Given the description of an element on the screen output the (x, y) to click on. 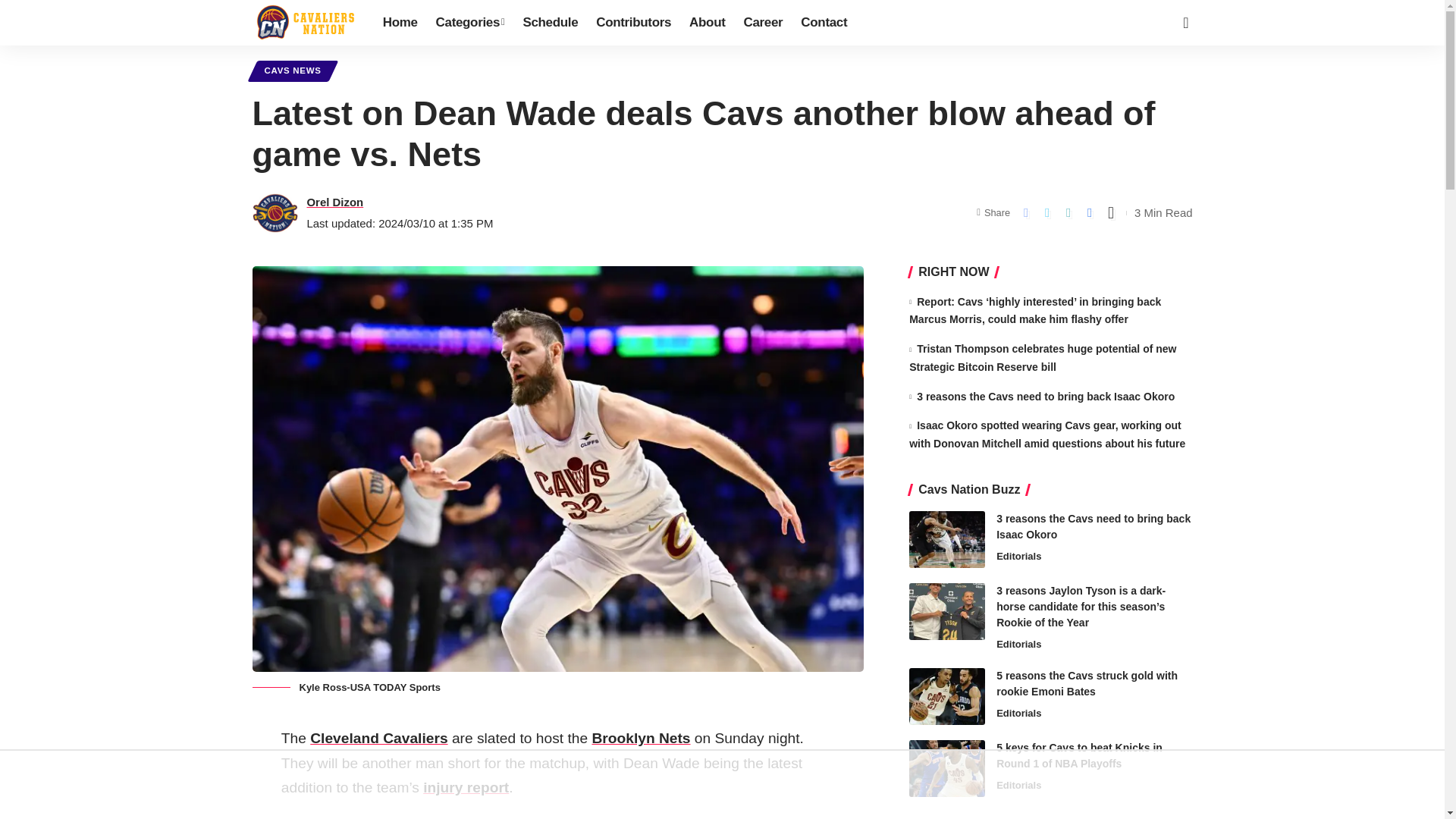
Brooklyn Nets (640, 738)
Career (763, 22)
Categories (469, 22)
Schedule (549, 22)
Cavaliers Nation (304, 22)
Categories (469, 22)
Contact (824, 22)
About (706, 22)
Brooklyn Nets (640, 738)
Home (400, 22)
5 reasons the Cavs struck gold with rookie Emoni Bates (946, 696)
injury report (465, 787)
3 reasons the Cavs need to bring back Isaac Okoro (946, 539)
5 keys for Cavs to beat Knicks in Round 1 of NBA Playoffs (946, 768)
CAVS NEWS (292, 70)
